Given the description of an element on the screen output the (x, y) to click on. 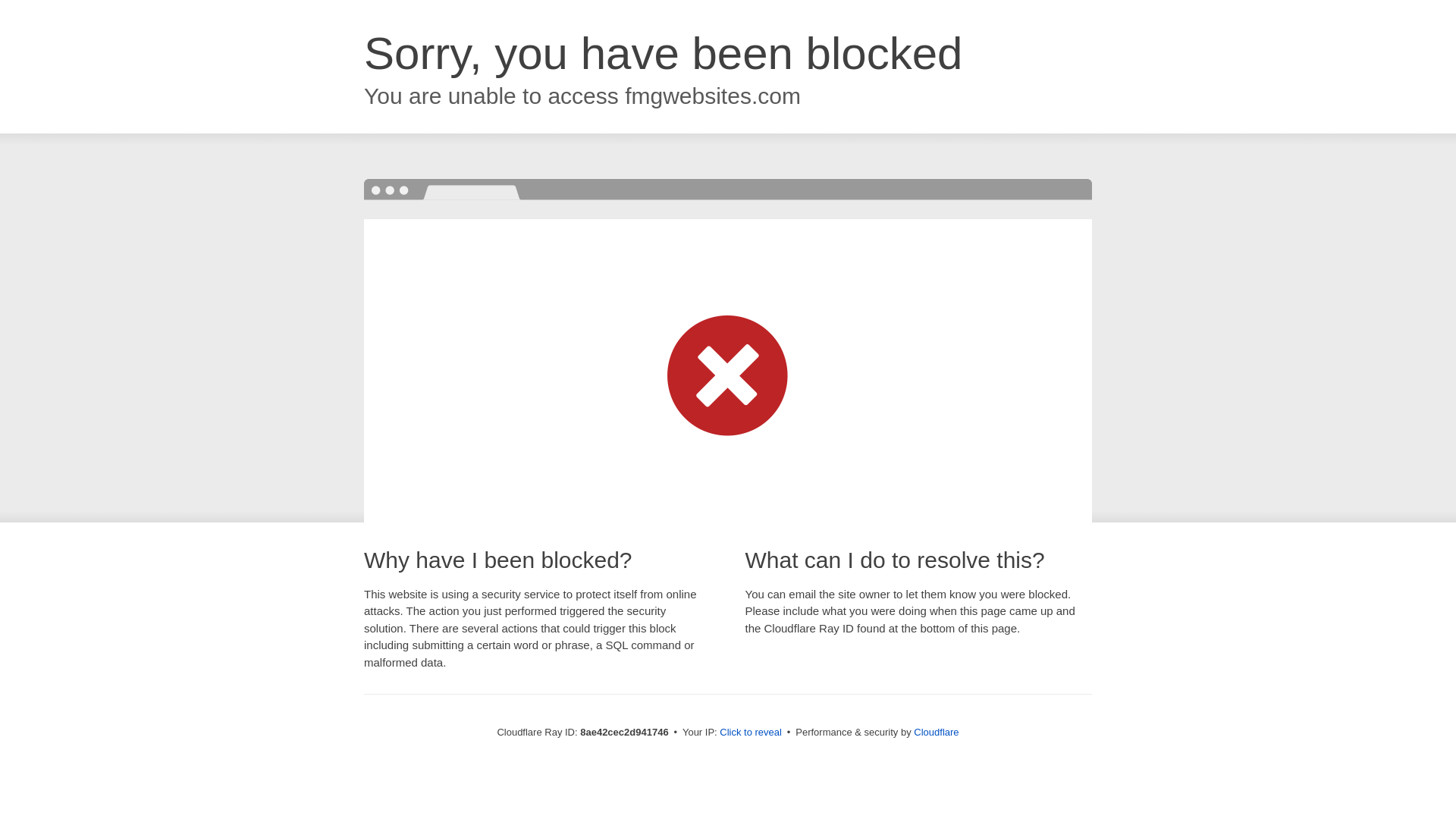
Click to reveal (750, 732)
Cloudflare (936, 731)
